Given the description of an element on the screen output the (x, y) to click on. 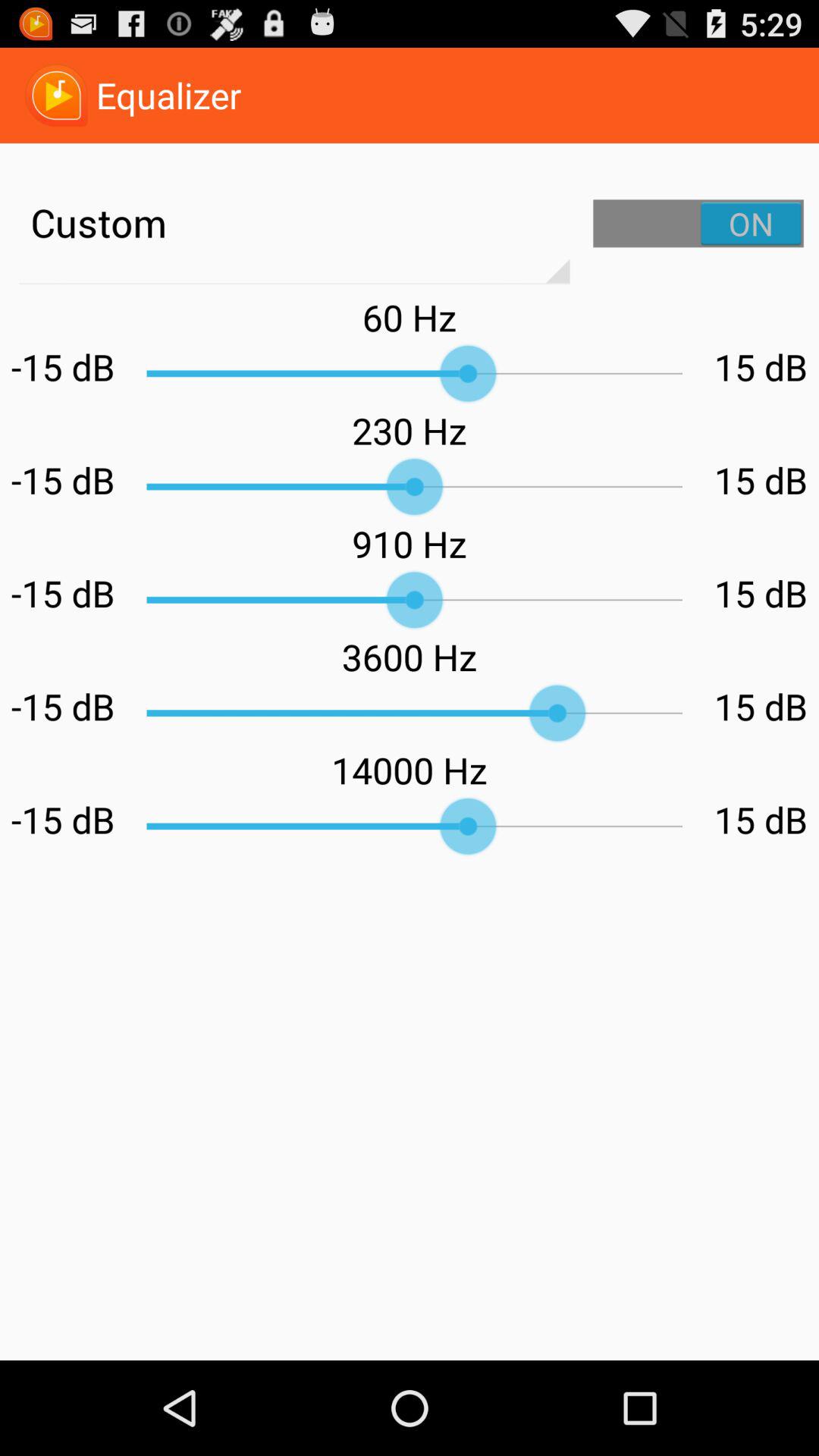
tap the icon to the right of the custom item (698, 223)
